Given the description of an element on the screen output the (x, y) to click on. 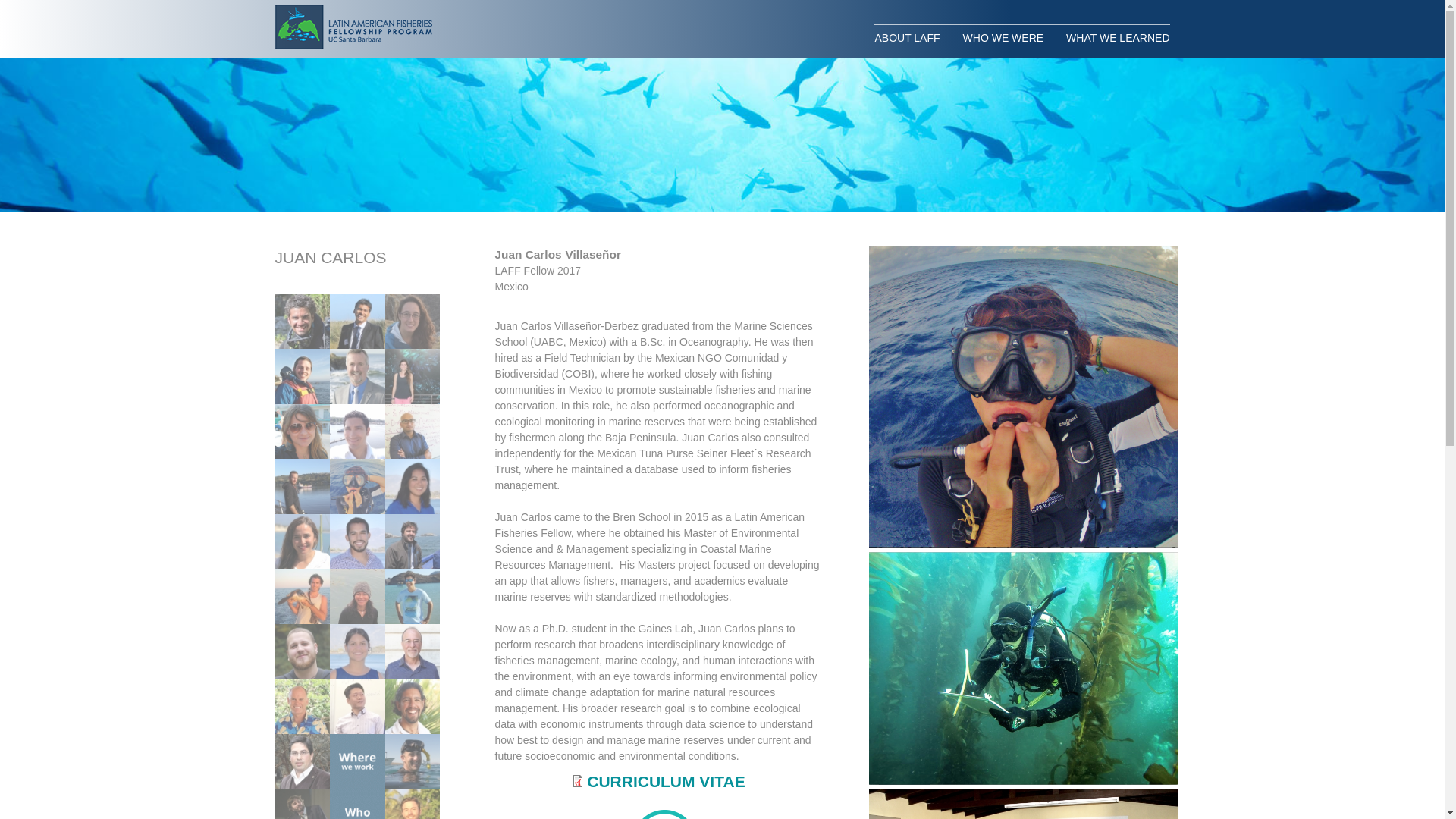
WHAT WE LEARNED (1111, 37)
CURRICULUM VITAE (665, 781)
WHO WE WERE (1003, 37)
ABOUT LAFF (912, 37)
